Given the description of an element on the screen output the (x, y) to click on. 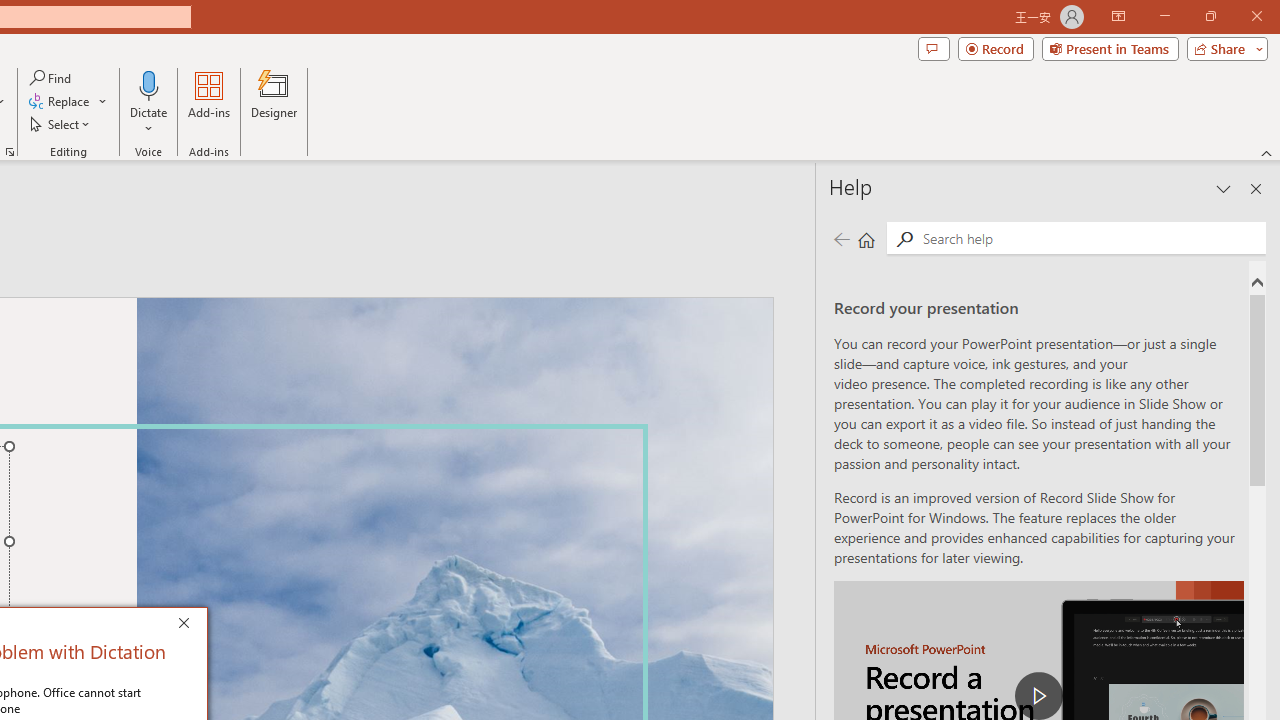
Format Object... (9, 151)
Ribbon Display Options (1118, 16)
Search (904, 238)
Designer (274, 102)
Record (995, 48)
Restore Down (1210, 16)
Find... (51, 78)
play Record a Presentation (1038, 695)
Replace... (60, 101)
Minimize (1164, 16)
Close pane (1256, 188)
Select (61, 124)
Share (1223, 48)
Home (866, 238)
